Given the description of an element on the screen output the (x, y) to click on. 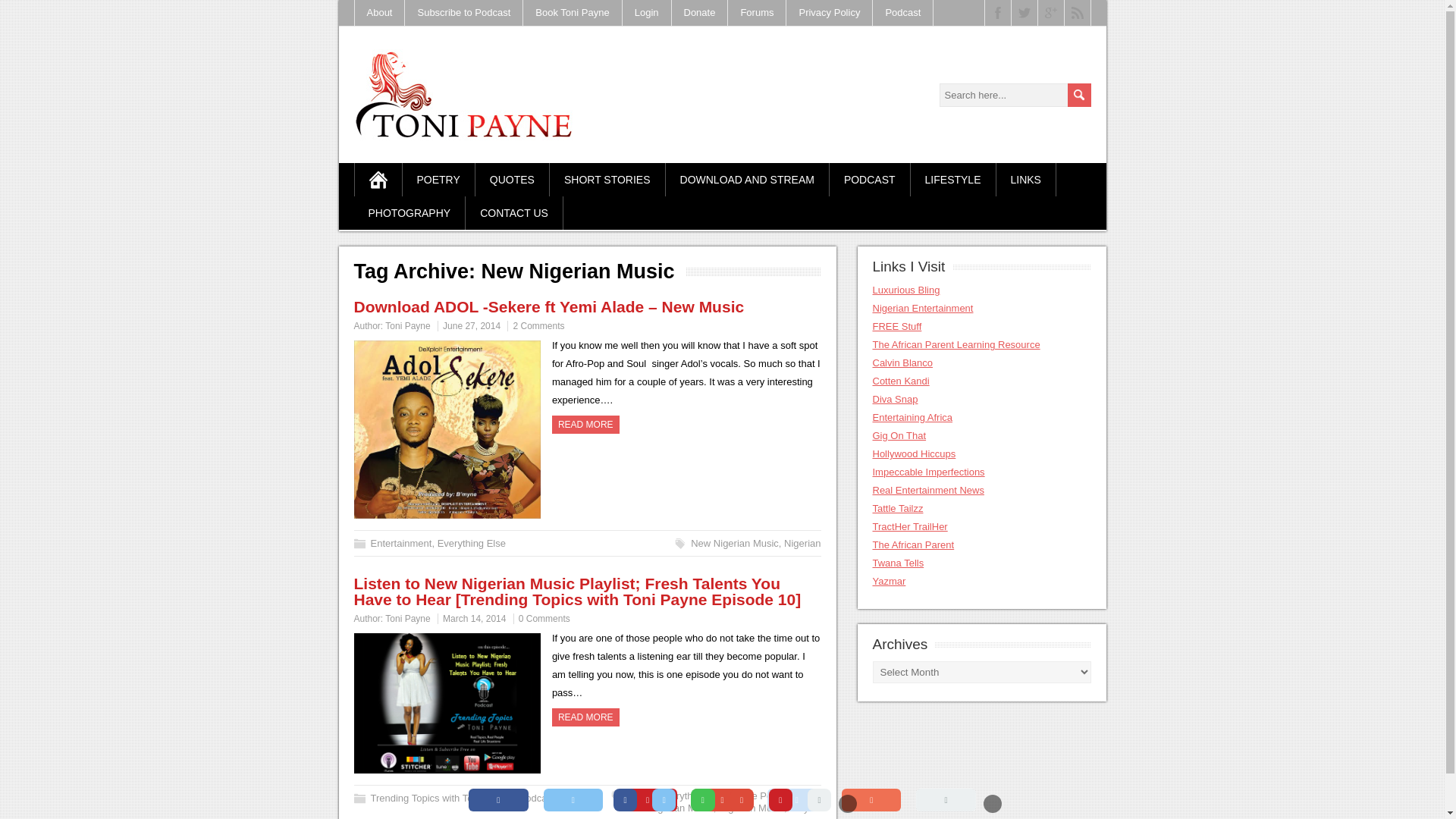
Privacy Policy (829, 12)
CONTACT US (514, 213)
Donate (700, 12)
LINKS (1026, 179)
Show all networks (945, 799)
READ MORE (585, 717)
READ MORE (585, 424)
Book Toni Payne (571, 12)
Reddit (797, 799)
New Nigerian Music (734, 542)
